Given the description of an element on the screen output the (x, y) to click on. 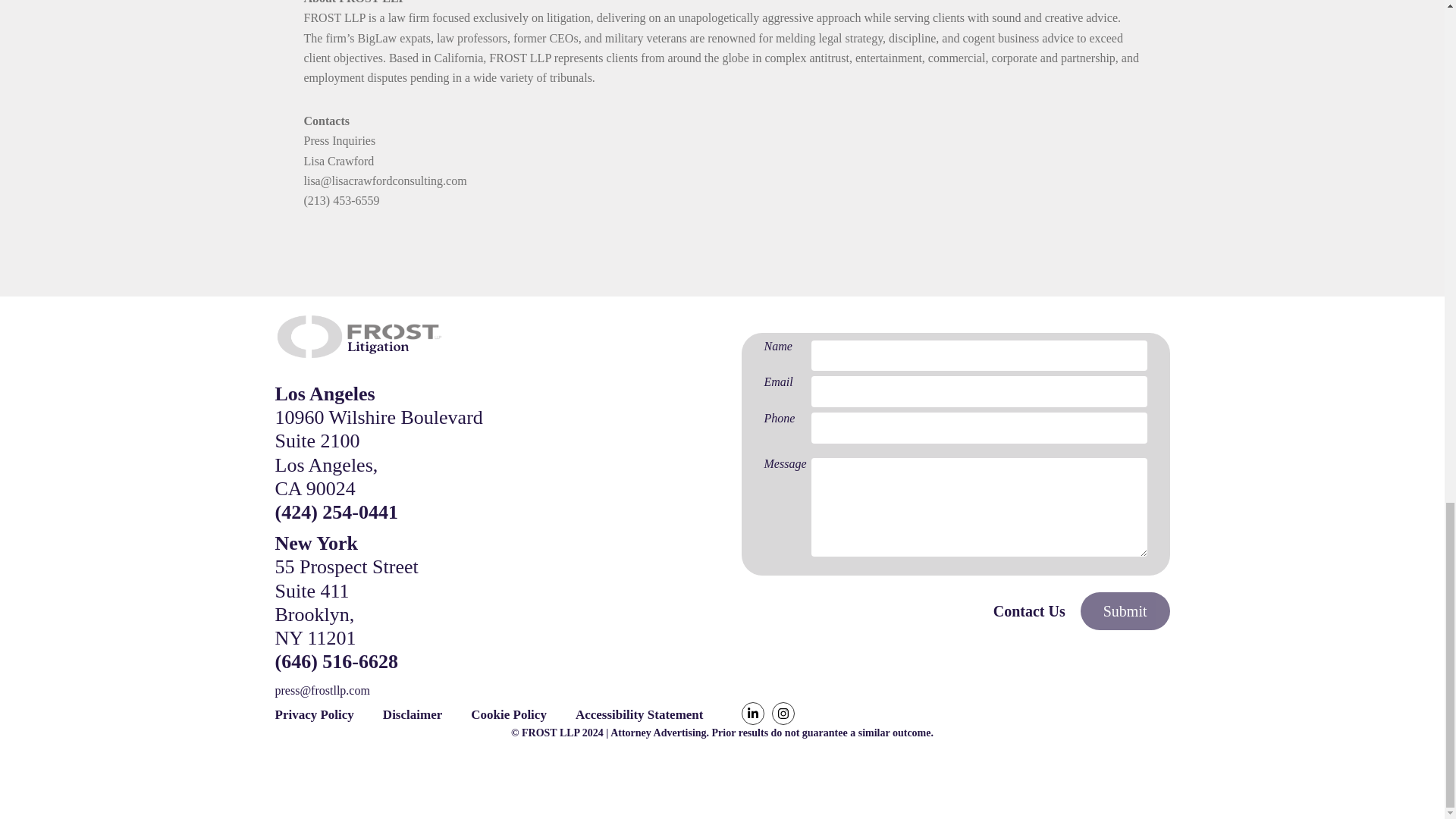
Submit (1125, 610)
Accessibility Statement (639, 714)
Disclaimer (412, 714)
Privacy Policy (314, 714)
Cookie Policy (508, 714)
Submit (1125, 610)
